Given the description of an element on the screen output the (x, y) to click on. 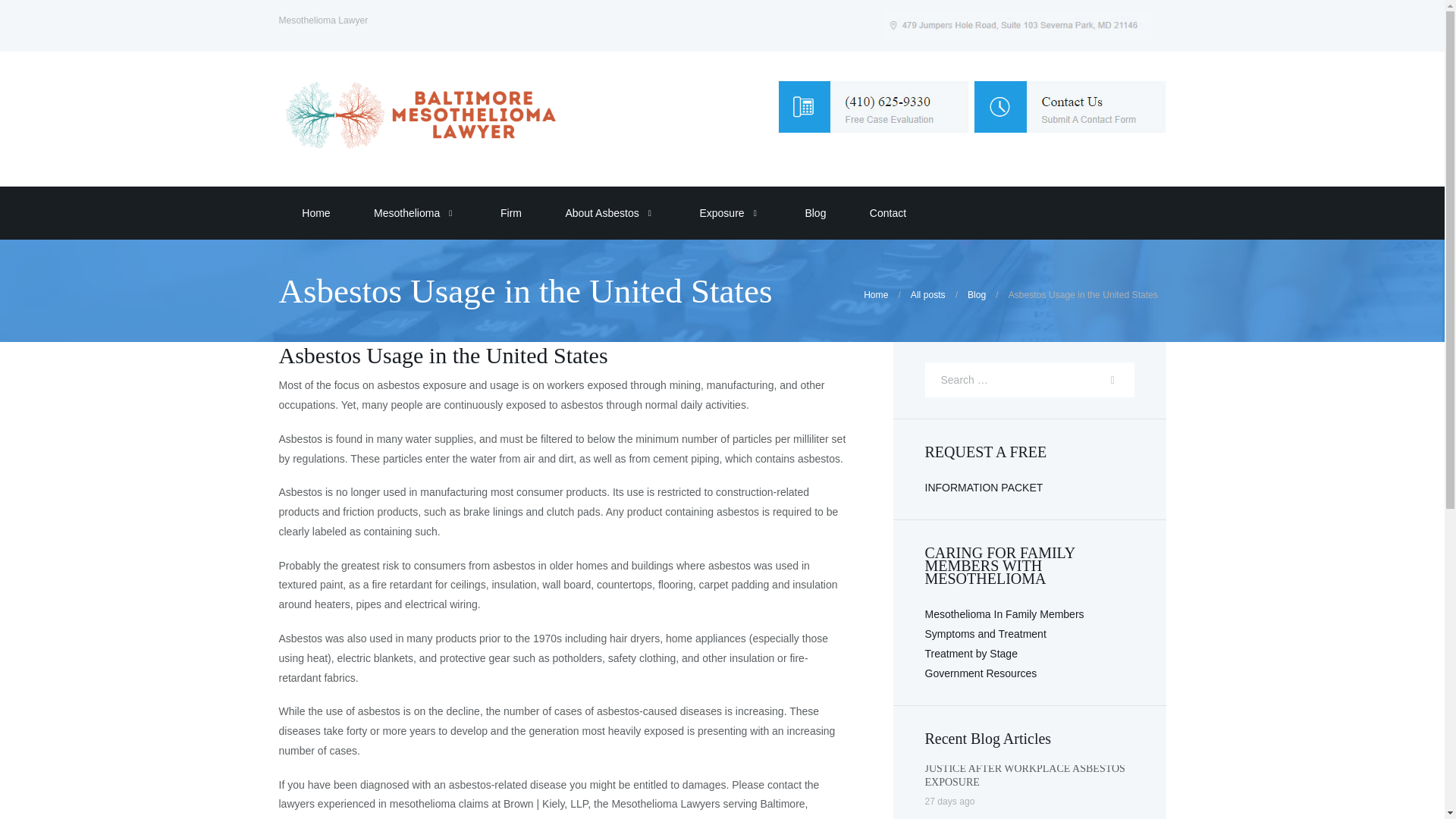
Home (314, 212)
Mesothelioma (404, 212)
Firm (509, 212)
Home (314, 212)
About Asbestos (600, 212)
Exposure (719, 212)
Mesothelioma (404, 212)
